Given the description of an element on the screen output the (x, y) to click on. 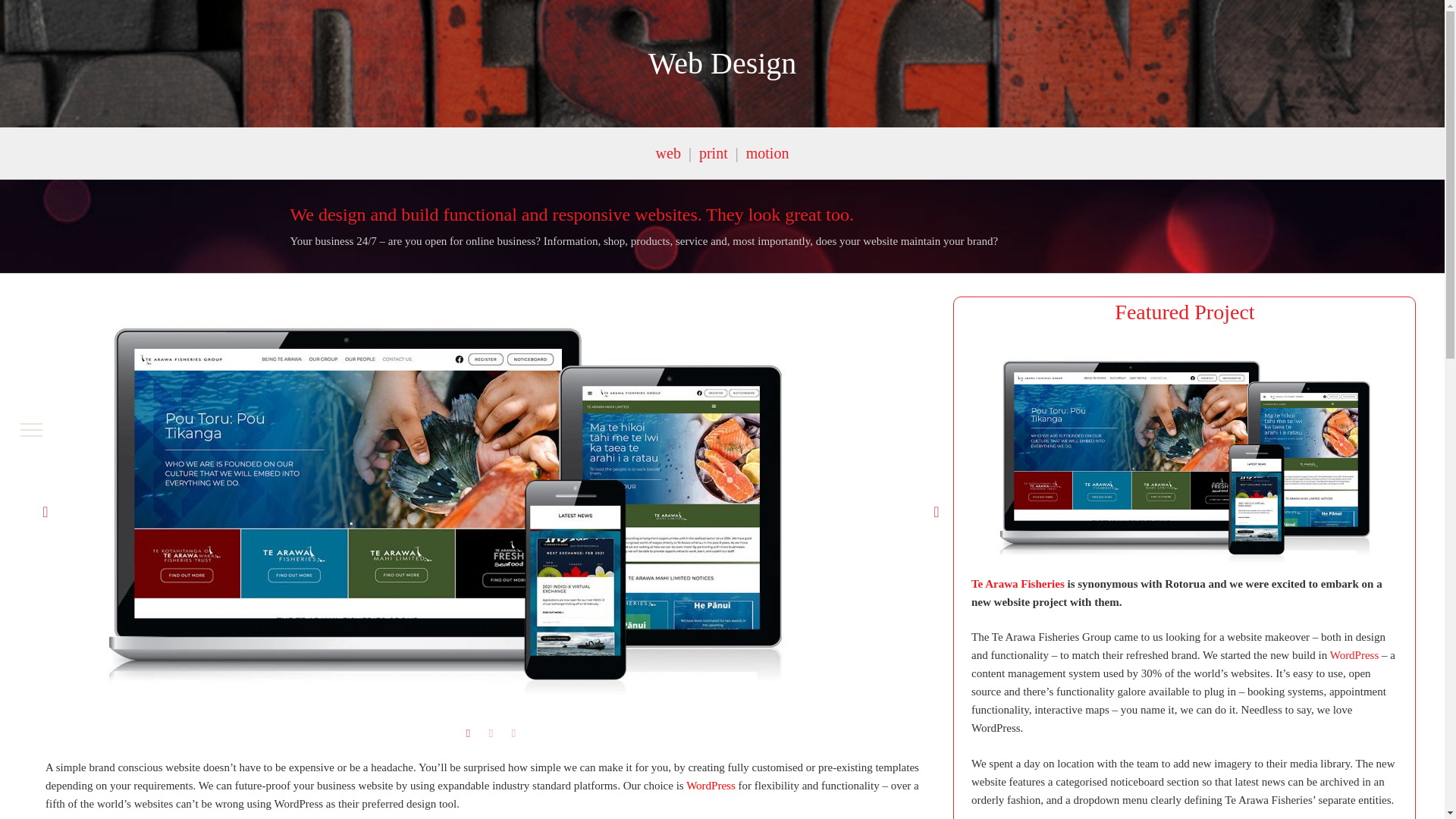
WordPress (1354, 654)
print (713, 152)
web (668, 152)
motion (767, 152)
Te Arawa Fisheries (1017, 583)
WordPress (710, 785)
